Given the description of an element on the screen output the (x, y) to click on. 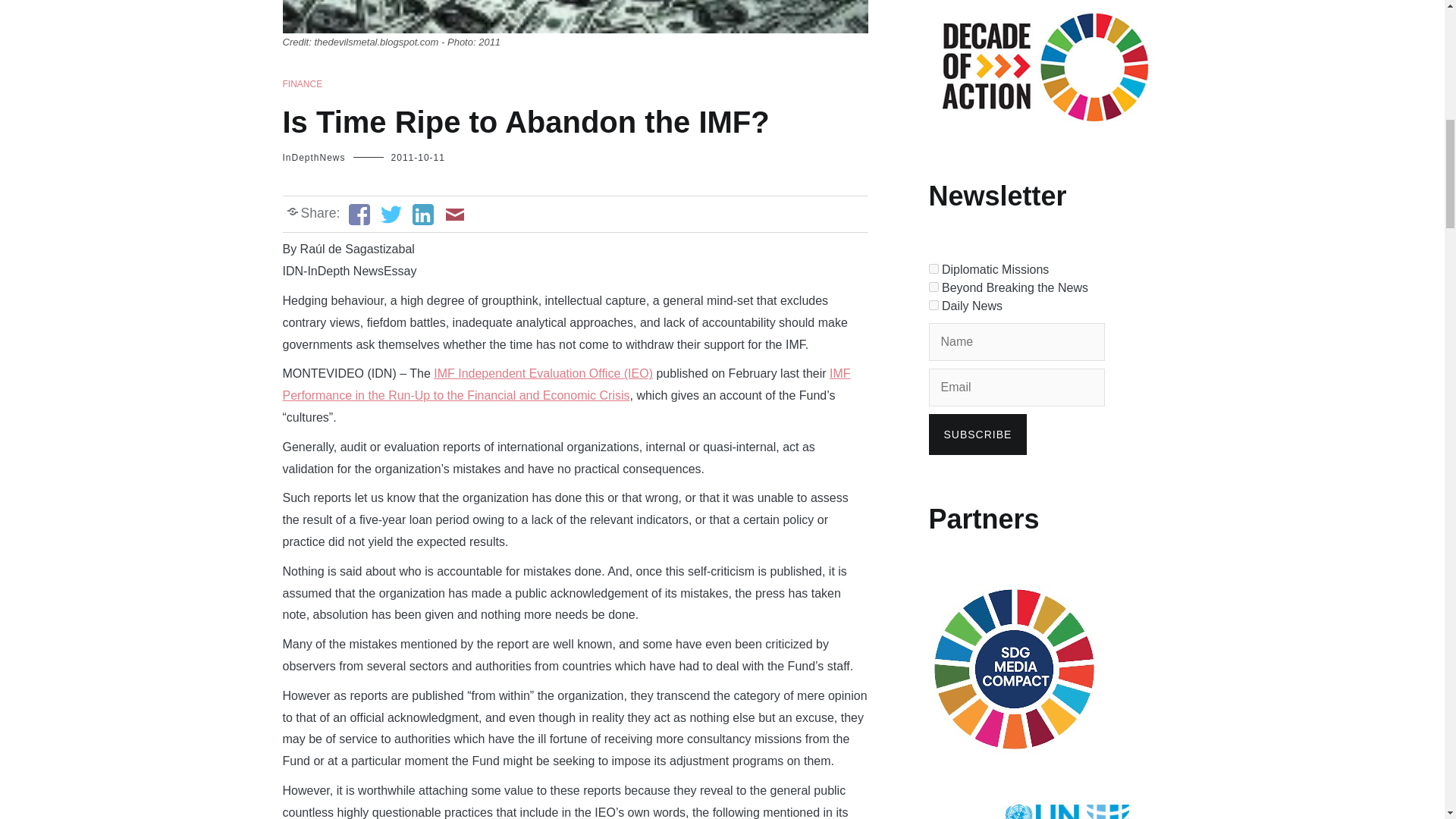
8 (932, 268)
Subscribe (977, 434)
9 (932, 286)
10 (932, 305)
